Given the description of an element on the screen output the (x, y) to click on. 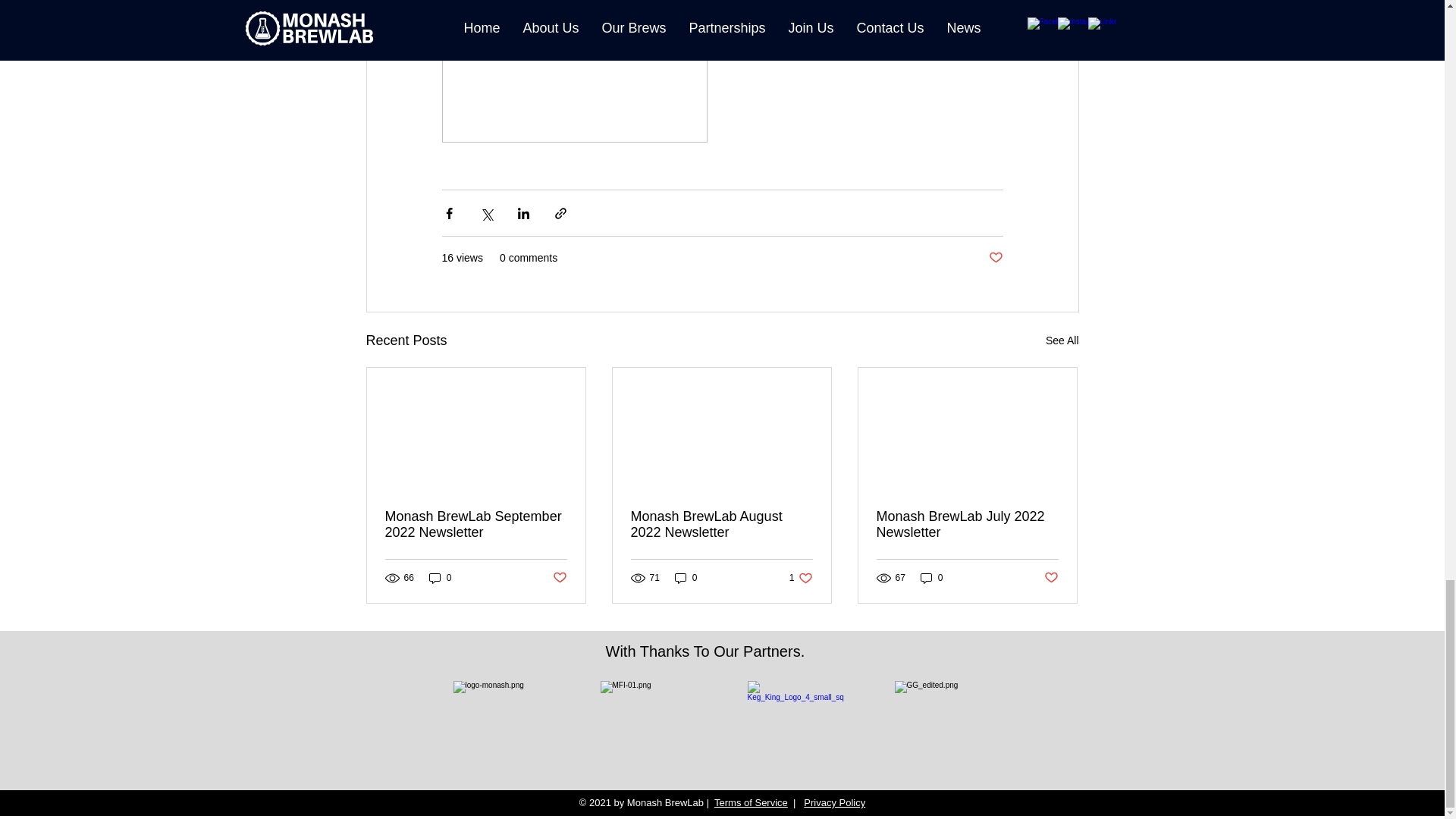
0 (685, 577)
Privacy Policy (833, 802)
See All (1061, 341)
Terms of Service (750, 802)
Monash BrewLab July 2022 Newsletter (967, 524)
Monash BrewLab September 2022 Newsletter (800, 577)
Post not marked as liked (476, 524)
0 (558, 578)
Monash BrewLab August 2022 Newsletter (931, 577)
